Given the description of an element on the screen output the (x, y) to click on. 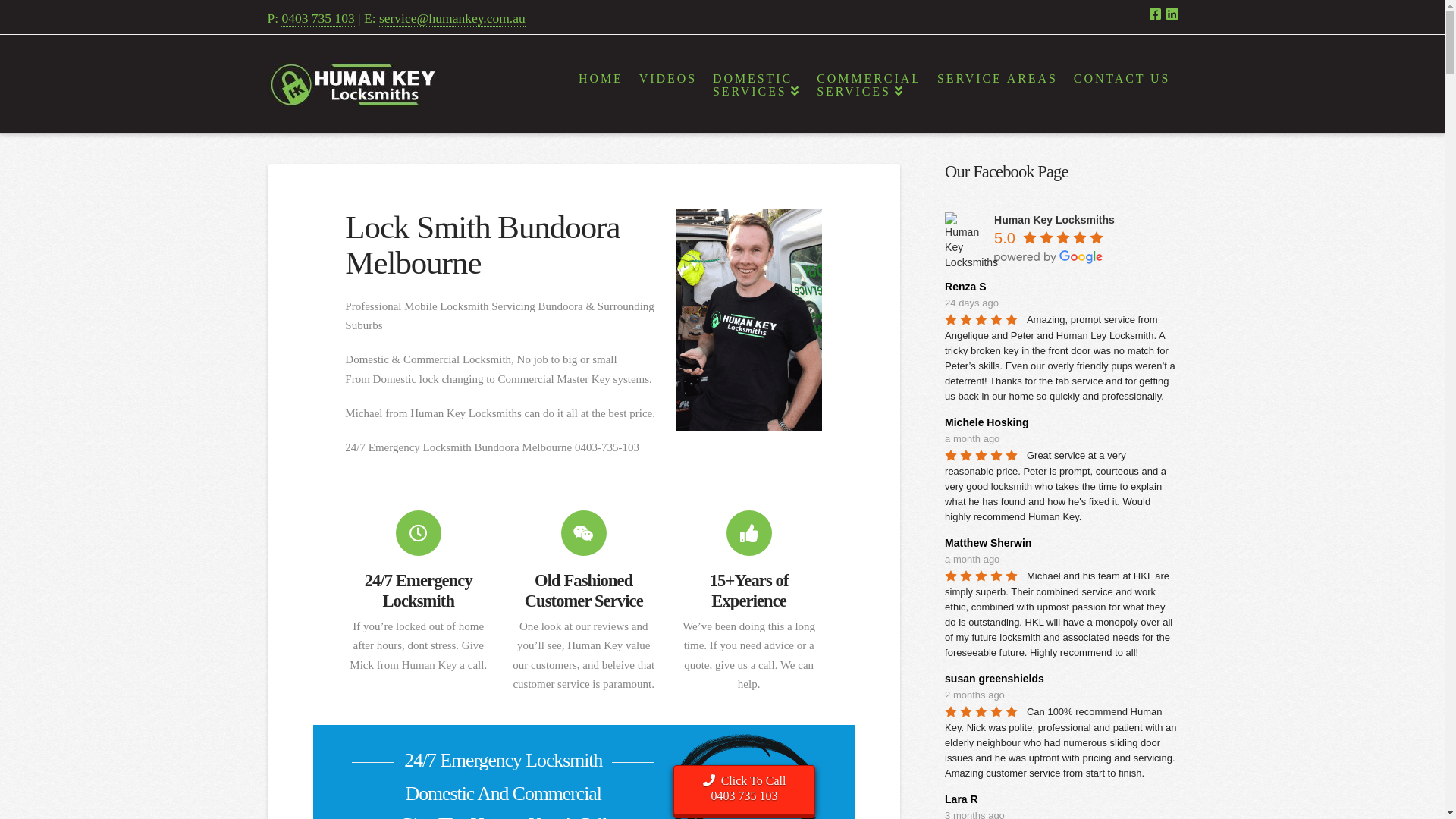
COMMERCIAL
SERVICES Element type: text (867, 83)
DOMESTIC
SERVICES Element type: text (755, 83)
VIDEOS Element type: text (666, 83)
Click To Call
0403 735 103 Element type: text (744, 790)
Human Key Locksmiths Element type: text (1054, 219)
0403 735 103 Element type: text (317, 18)
CONTACT US Element type: text (1120, 83)
HOME Element type: text (599, 83)
LinkedIn Element type: hover (1171, 14)
service@humankey.com.au Element type: text (452, 18)
Facebook Element type: hover (1155, 14)
SERVICE AREAS Element type: text (996, 83)
